Given the description of an element on the screen output the (x, y) to click on. 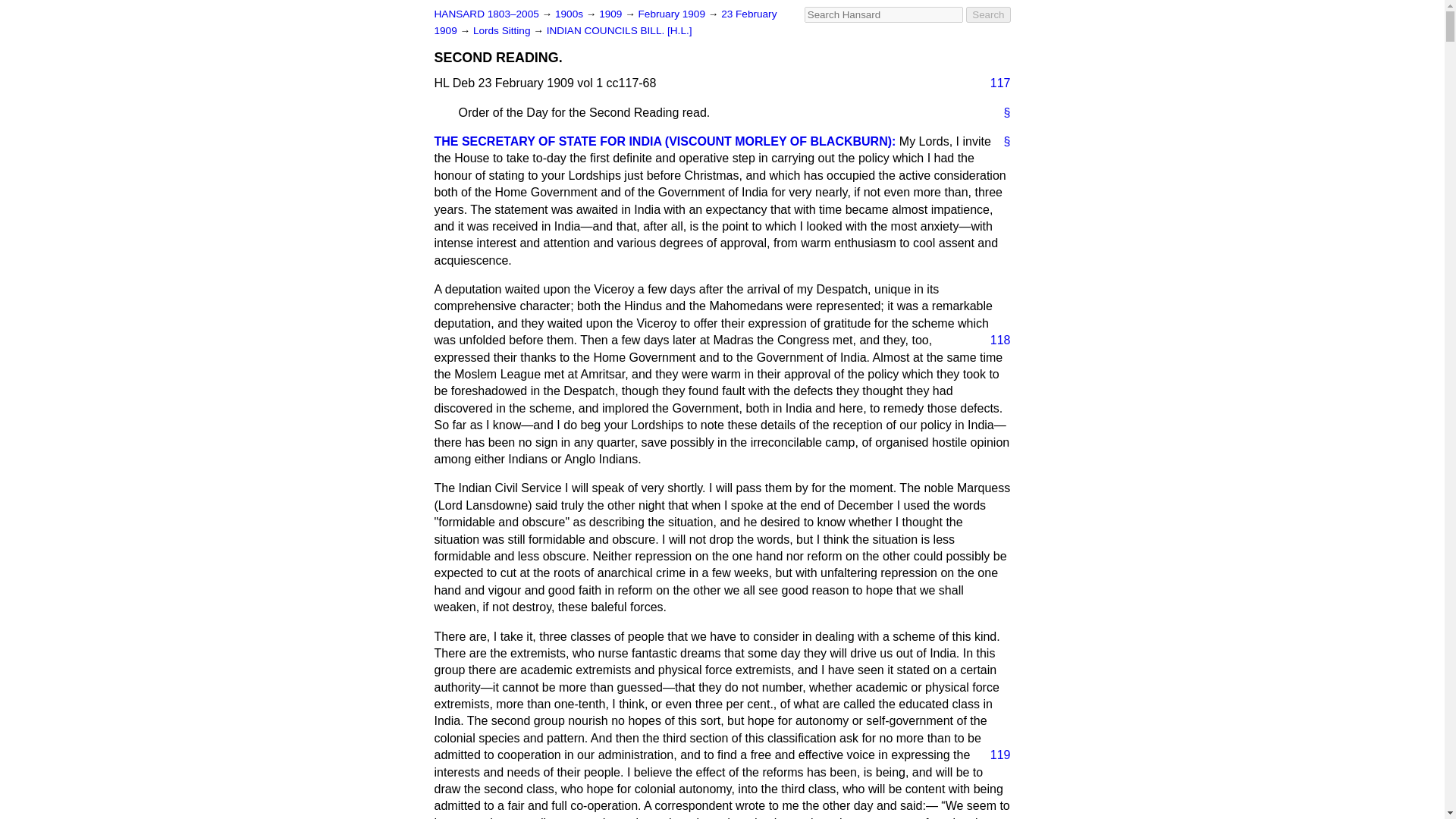
119 (994, 754)
1909 (611, 13)
Search (988, 14)
Search (988, 14)
1900s (570, 13)
117 (994, 83)
23 February 1909 (604, 22)
118 (994, 340)
Lords Sitting (502, 30)
Mr John Morley (664, 141)
